Given the description of an element on the screen output the (x, y) to click on. 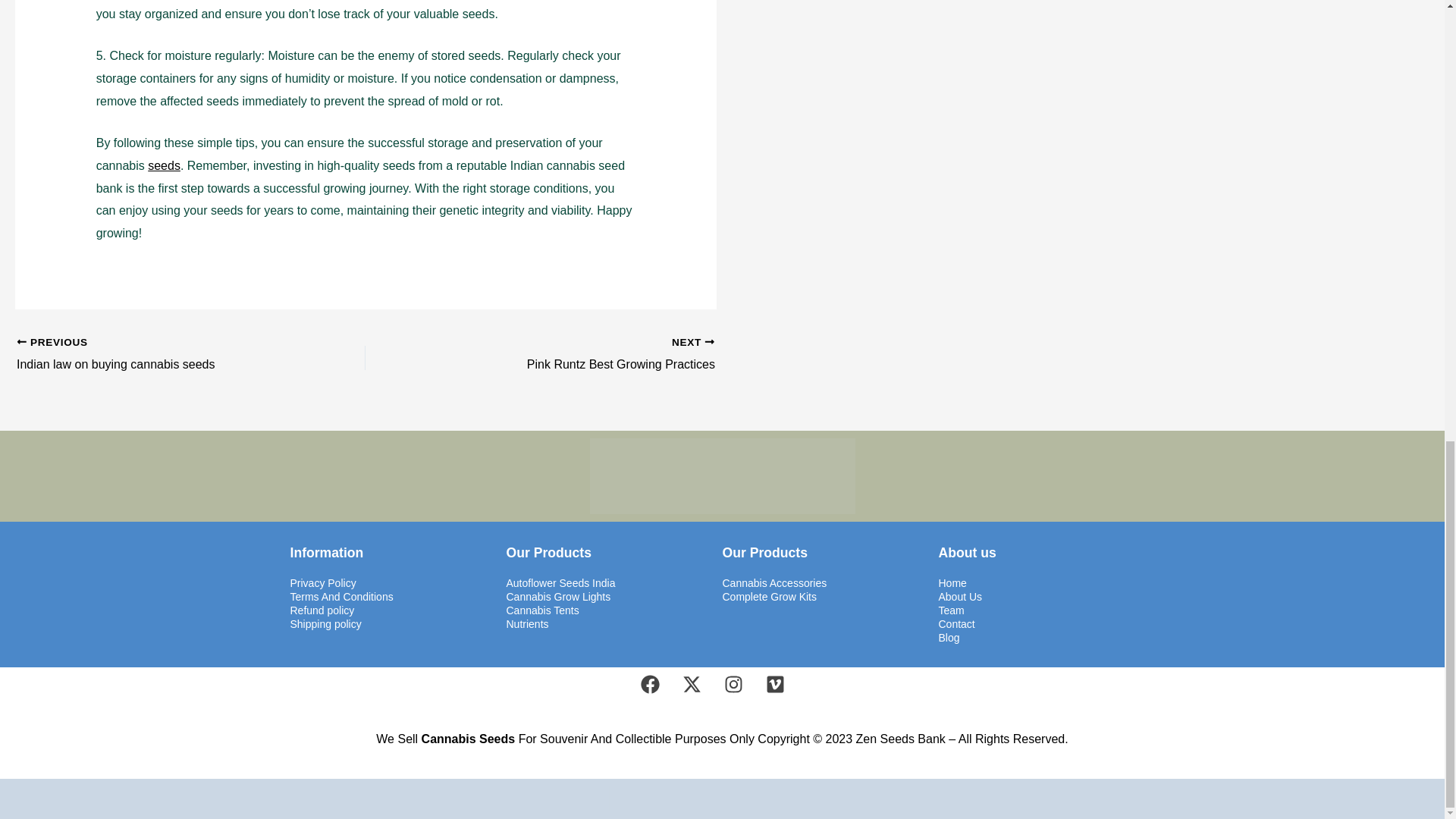
Indian law on buying cannabis seeds (156, 354)
wave (722, 476)
Pink Runtz Best Growing Practices (573, 354)
